Given the description of an element on the screen output the (x, y) to click on. 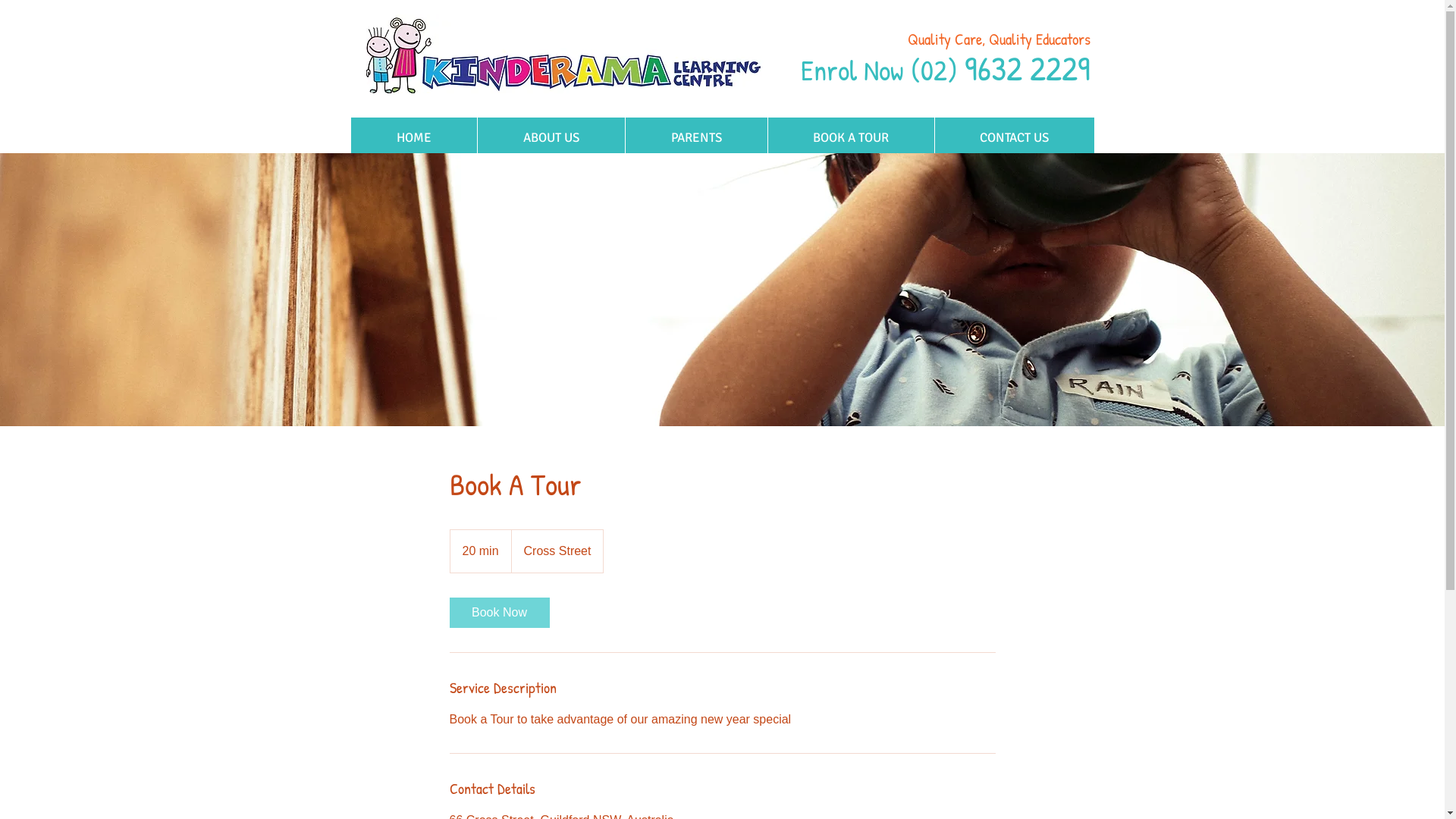
CONTACT US Element type: text (1014, 137)
ABOUT US Element type: text (550, 137)
BOOK A TOUR Element type: text (850, 137)
HOME Element type: text (413, 137)
Book Now Element type: text (498, 612)
PARENTS Element type: text (695, 137)
